Given the description of an element on the screen output the (x, y) to click on. 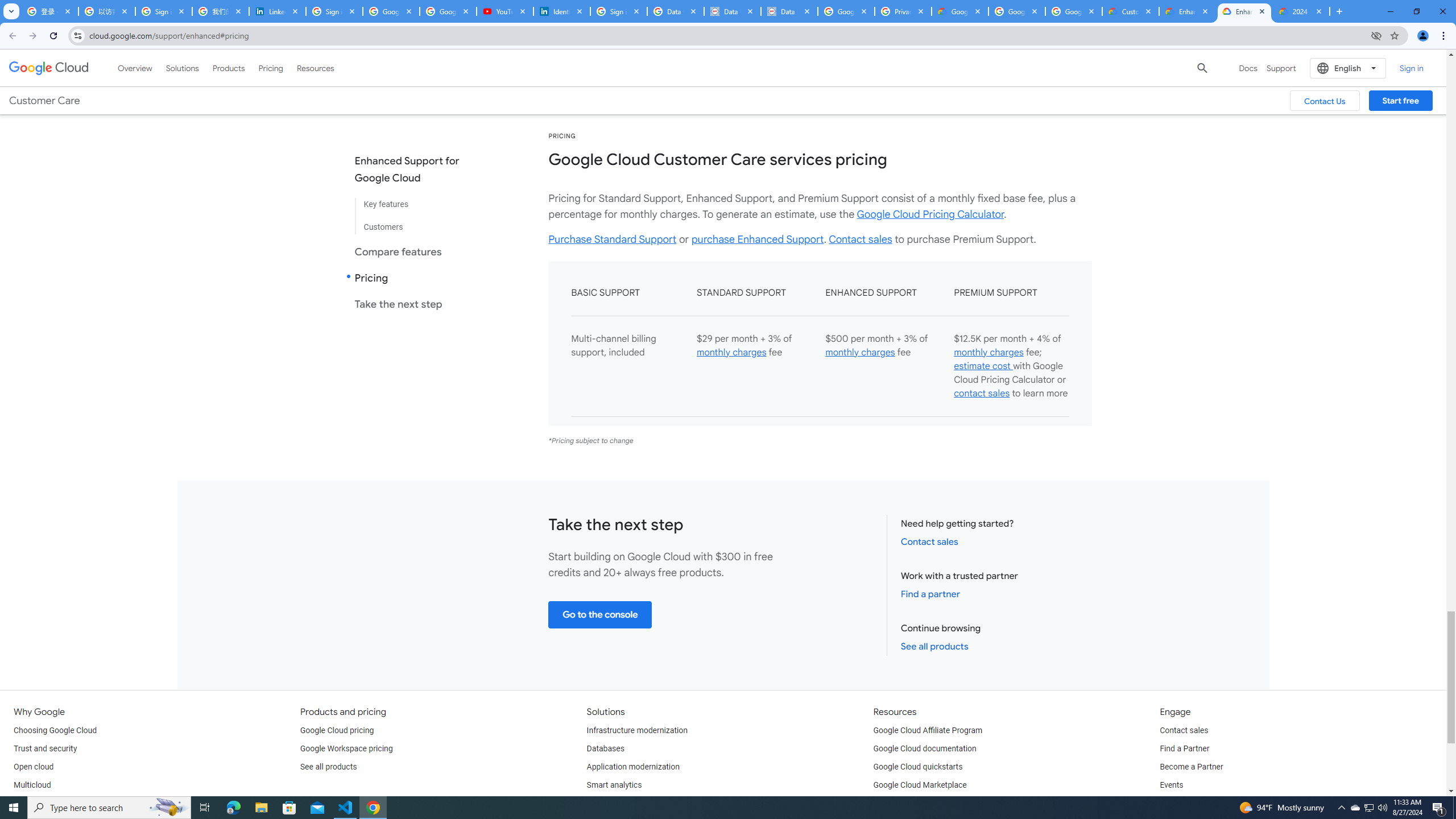
Customers (416, 222)
Customer Care | Google Cloud (1130, 11)
Assured Support (1004, 43)
Application modernization (632, 766)
